Given the description of an element on the screen output the (x, y) to click on. 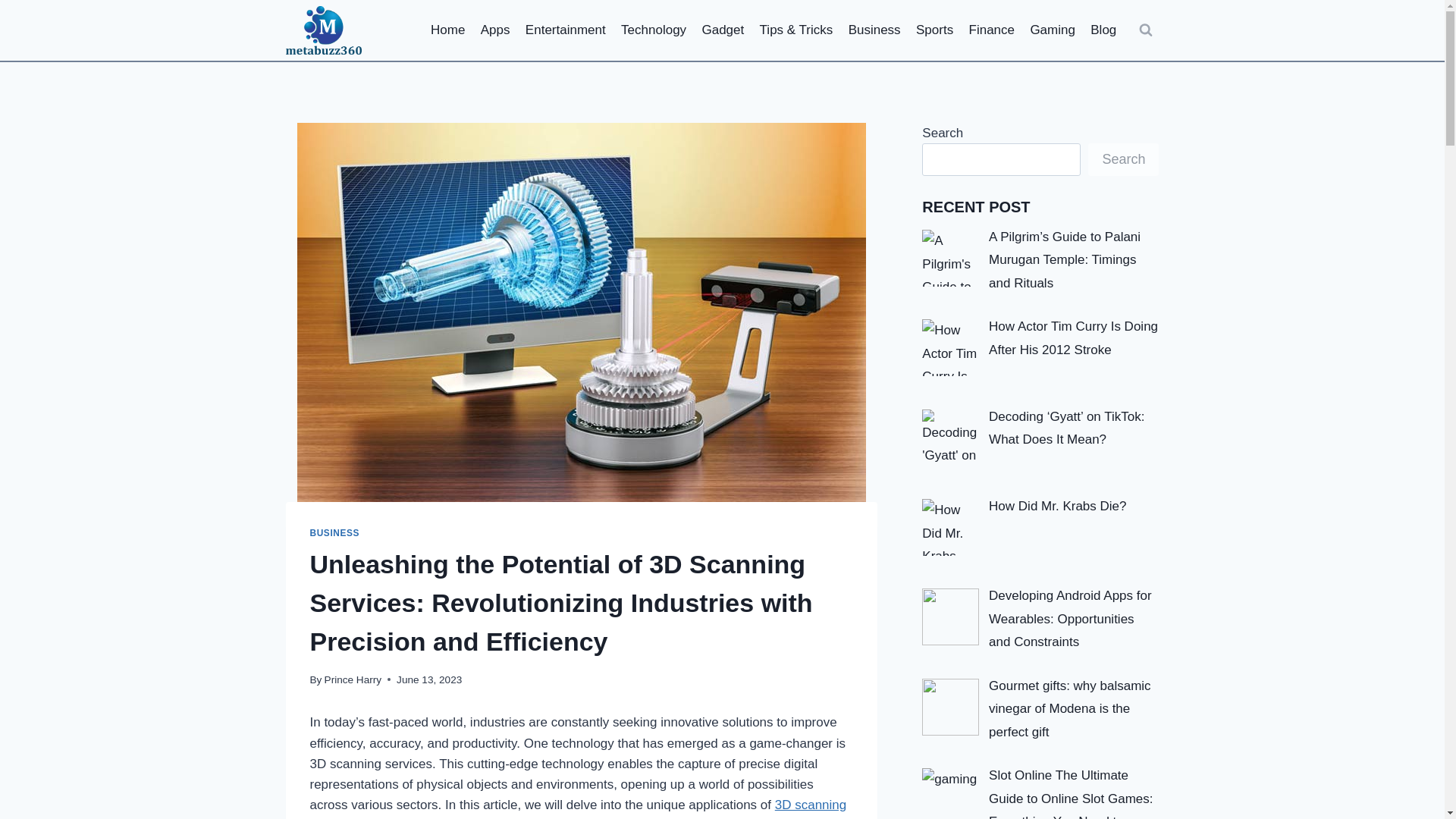
Business (873, 30)
Entertainment (565, 30)
Home (448, 30)
Blog (1103, 30)
Gadget (722, 30)
Gaming (1052, 30)
Apps (495, 30)
3D scanning services (576, 808)
Prince Harry (352, 679)
Technology (653, 30)
